Given the description of an element on the screen output the (x, y) to click on. 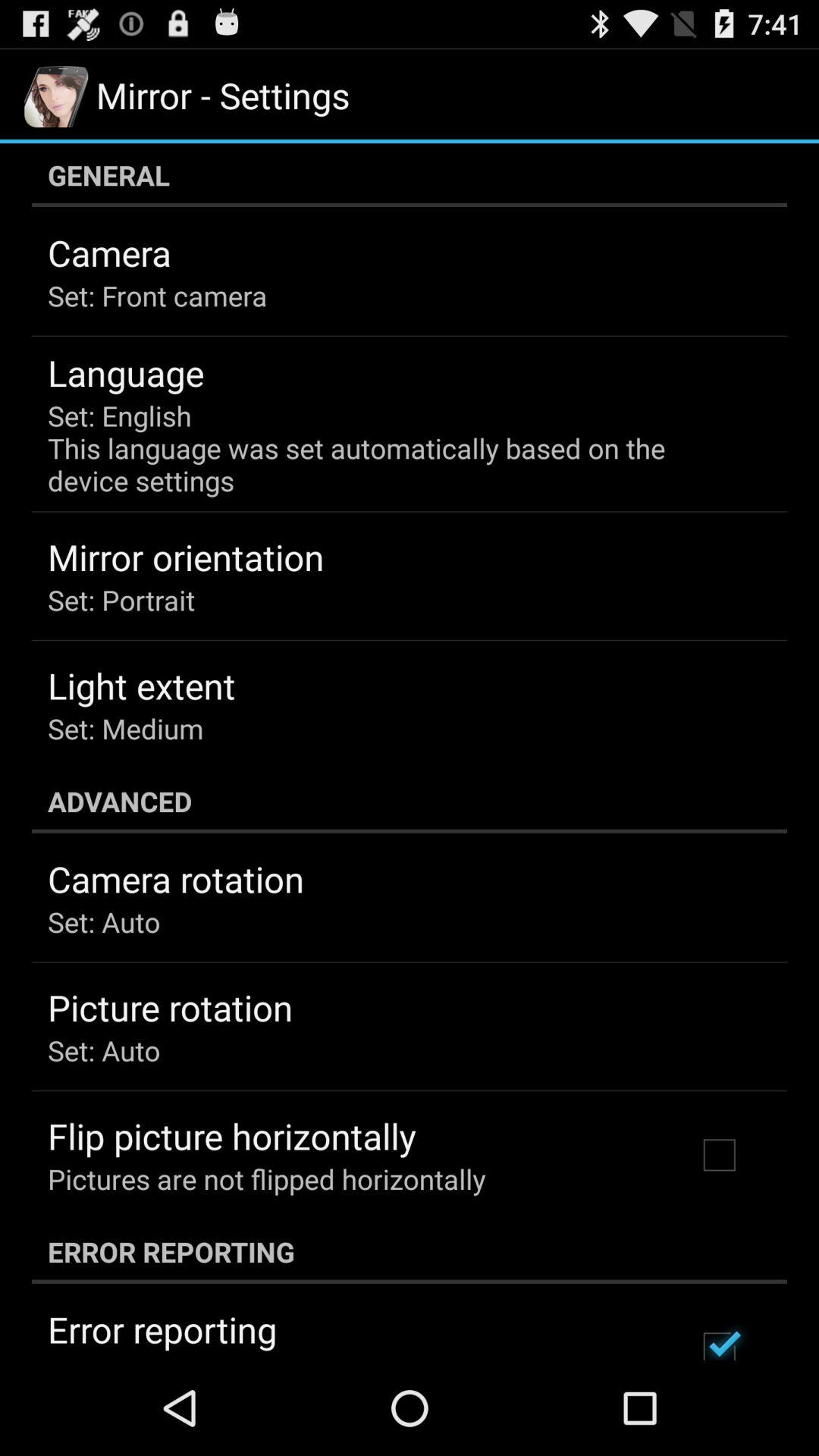
jump until the light extent (141, 685)
